Given the description of an element on the screen output the (x, y) to click on. 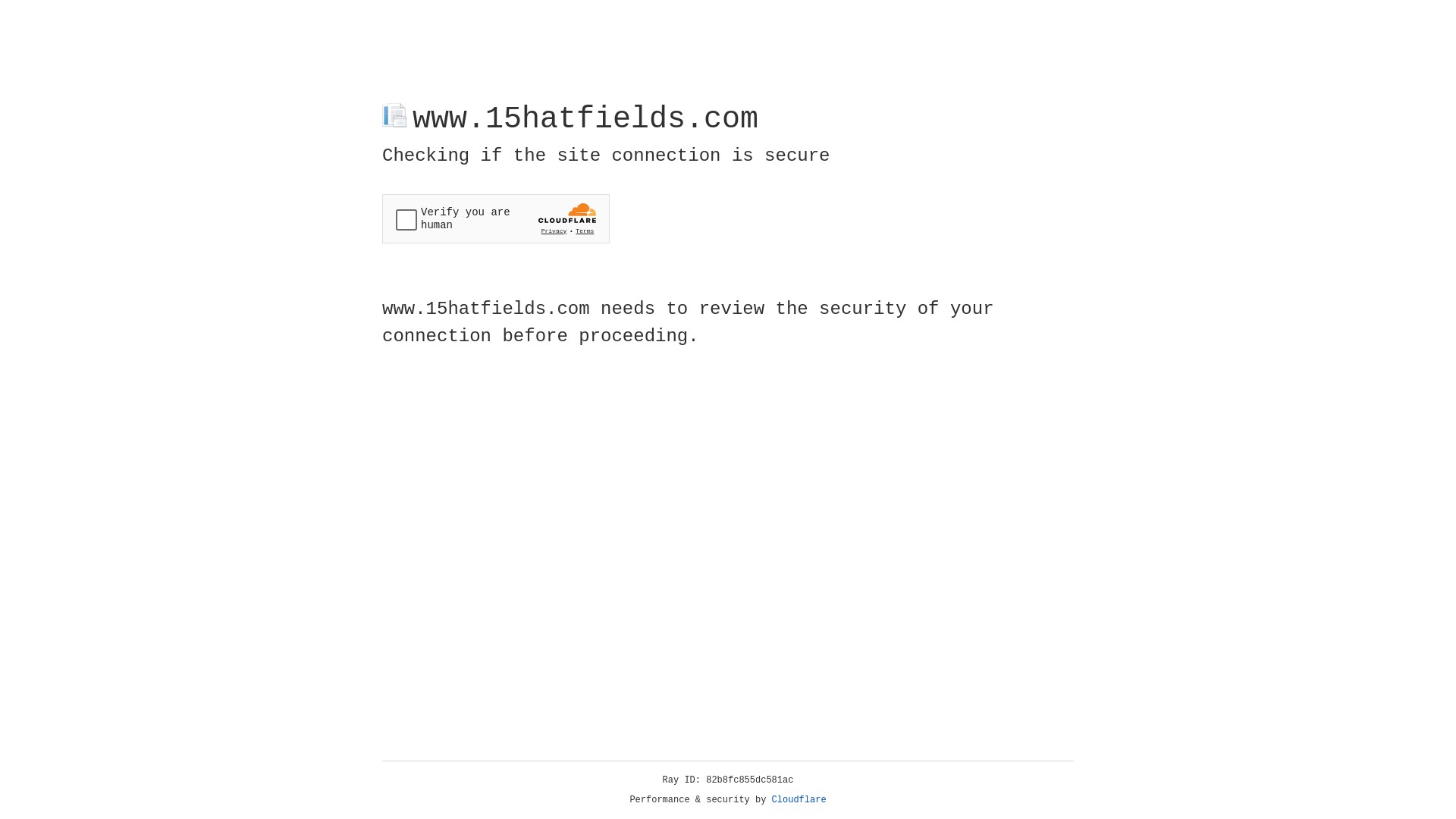
Widget containing a Cloudflare security challenge Element type: hover (495, 218)
Cloudflare Element type: text (798, 799)
